Given the description of an element on the screen output the (x, y) to click on. 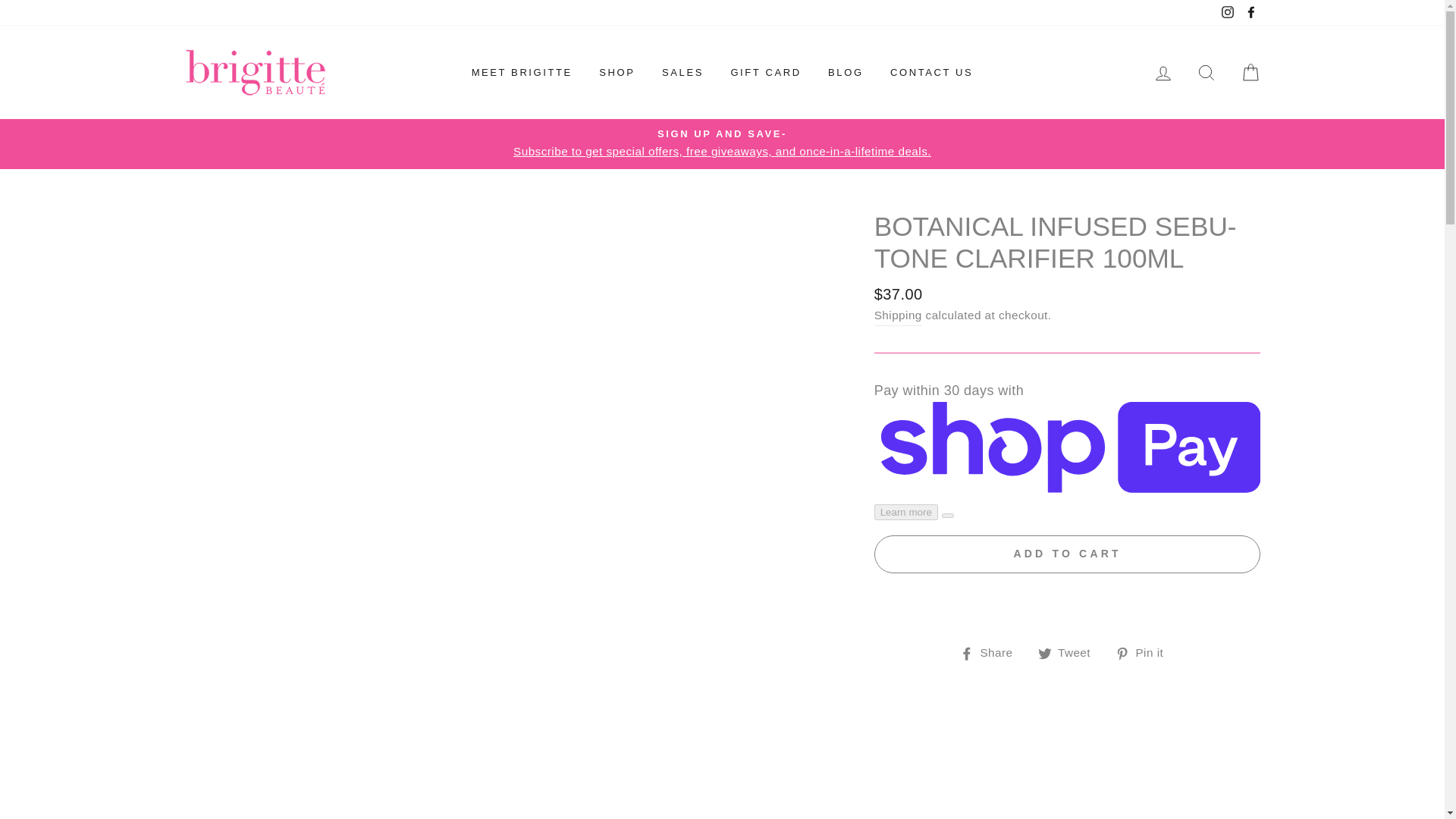
Share on Facebook (992, 652)
MEET BRIGITTE (521, 72)
Pin on Pinterest (1144, 652)
SHOP (617, 72)
Tweet on Twitter (1069, 652)
